Given the description of an element on the screen output the (x, y) to click on. 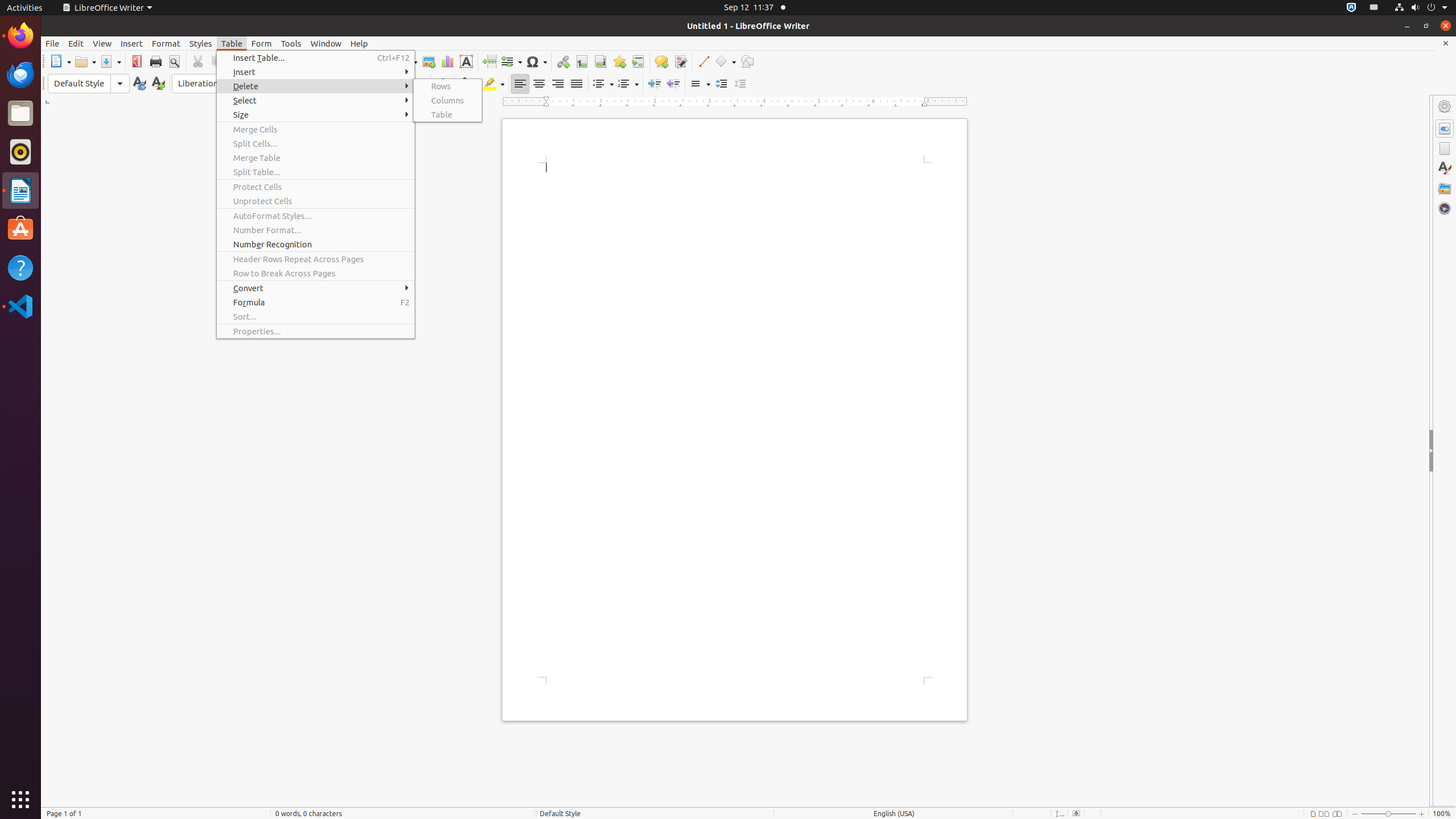
PDF Element type: push-button (136, 61)
Select Element type: menu (315, 100)
Properties Element type: radio-button (1444, 128)
Justified Element type: toggle-button (576, 83)
Merge Table Element type: menu-item (315, 157)
